Given the description of an element on the screen output the (x, y) to click on. 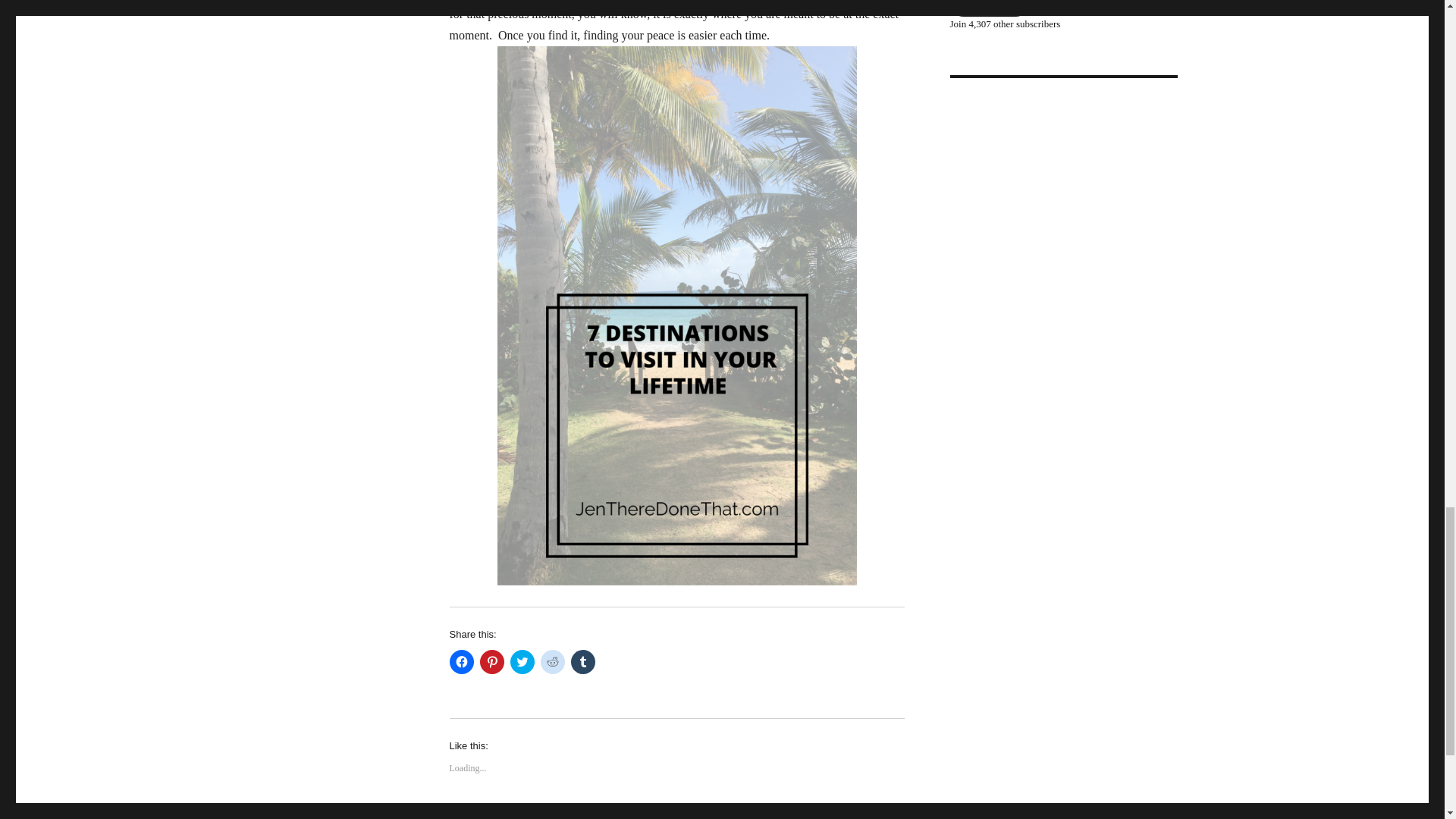
Click to share on Tumblr (582, 662)
Click to share on Facebook (460, 662)
Click to share on Twitter (521, 662)
Click to share on Pinterest (491, 662)
Click to share on Reddit (552, 662)
